Given the description of an element on the screen output the (x, y) to click on. 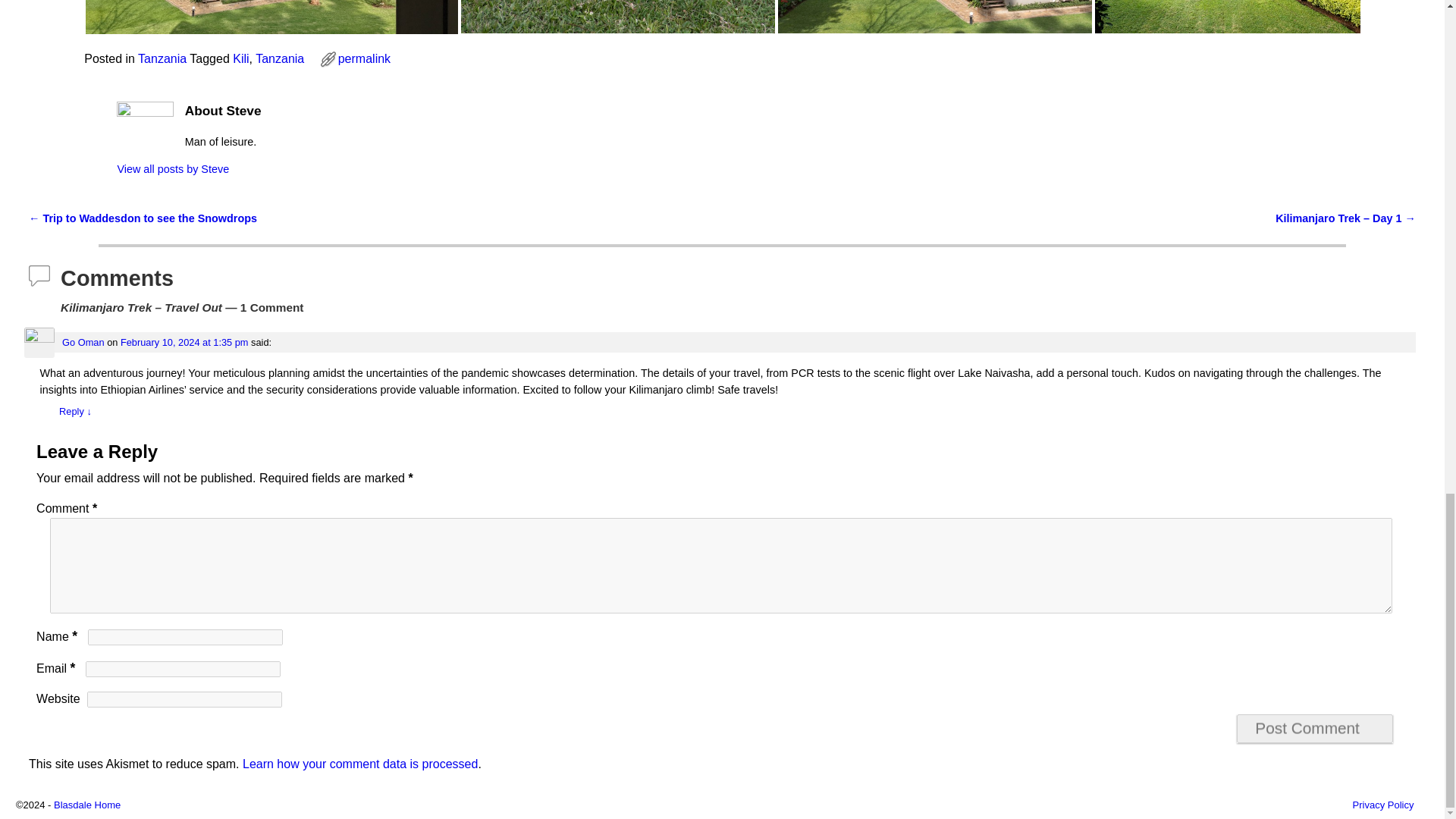
Post Comment (1314, 728)
Trip to Kilimanjaro (934, 16)
Blasdale Home (86, 804)
Trip to Kilimanjaro (1251, 16)
Trip to Kilimanjaro (271, 16)
Trip to Kilimanjaro (617, 16)
